Given the description of an element on the screen output the (x, y) to click on. 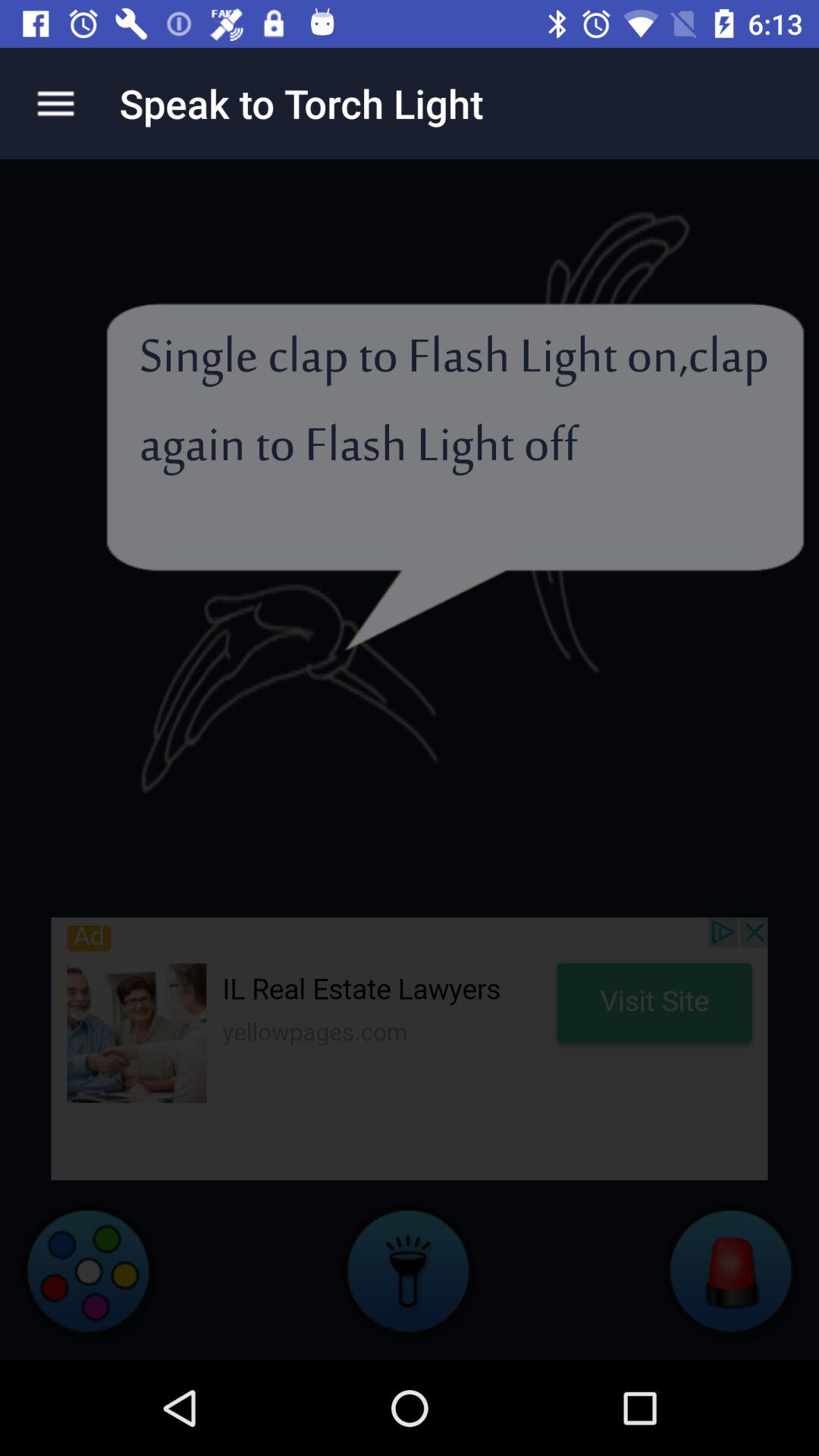
go to advertisement (409, 1048)
